Given the description of an element on the screen output the (x, y) to click on. 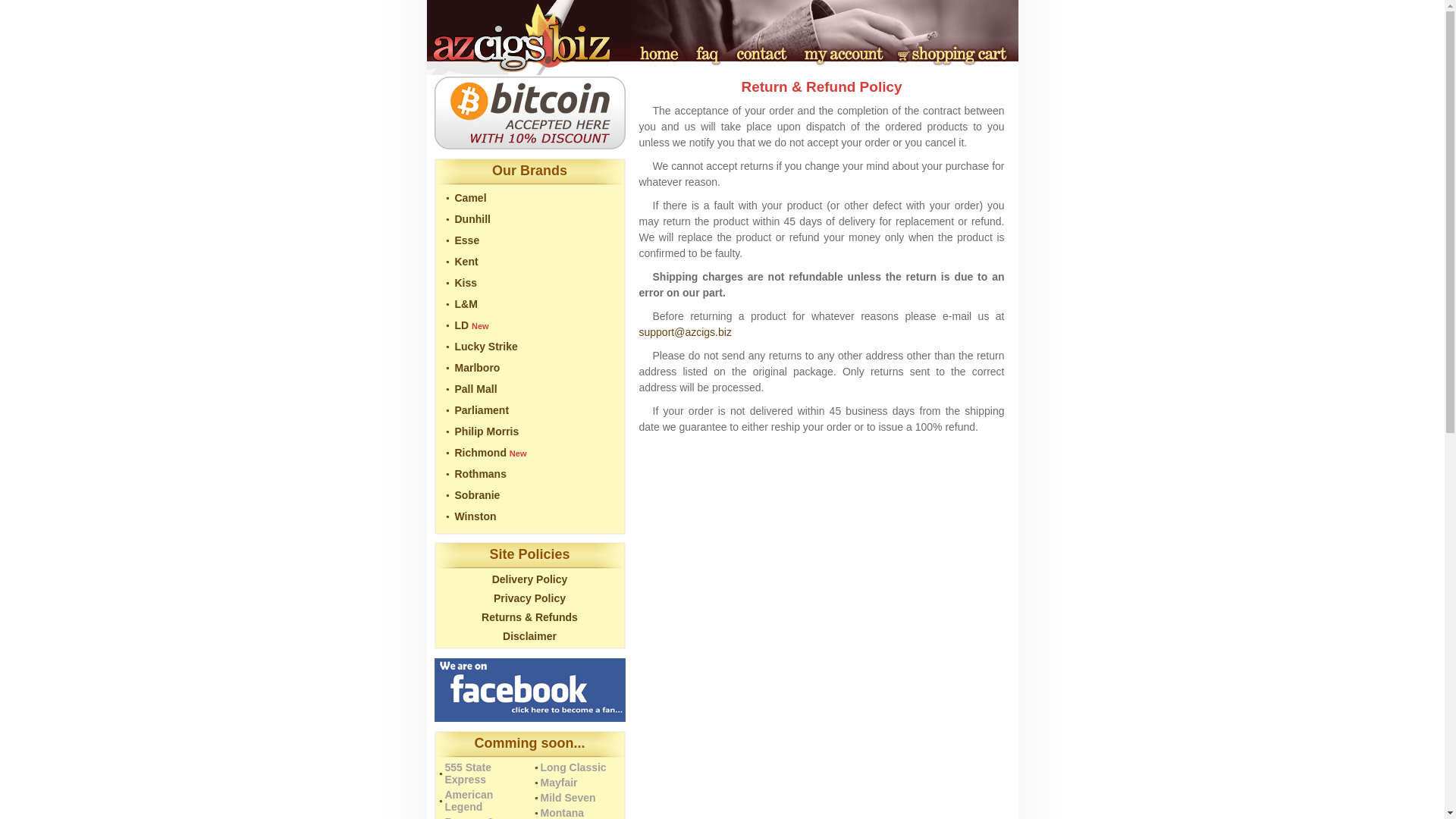
Lucky Strike (486, 346)
Disclaimer (529, 635)
Kiss (465, 282)
Camel (470, 197)
Delivery Policy (529, 579)
Rothmans (480, 473)
Winston (475, 516)
American Legend (468, 800)
Pall Mall (475, 388)
Kent (466, 261)
Privacy Policy (529, 598)
Sobranie (477, 494)
LD (461, 325)
Dunhill (472, 218)
Parliament (481, 410)
